Given the description of an element on the screen output the (x, y) to click on. 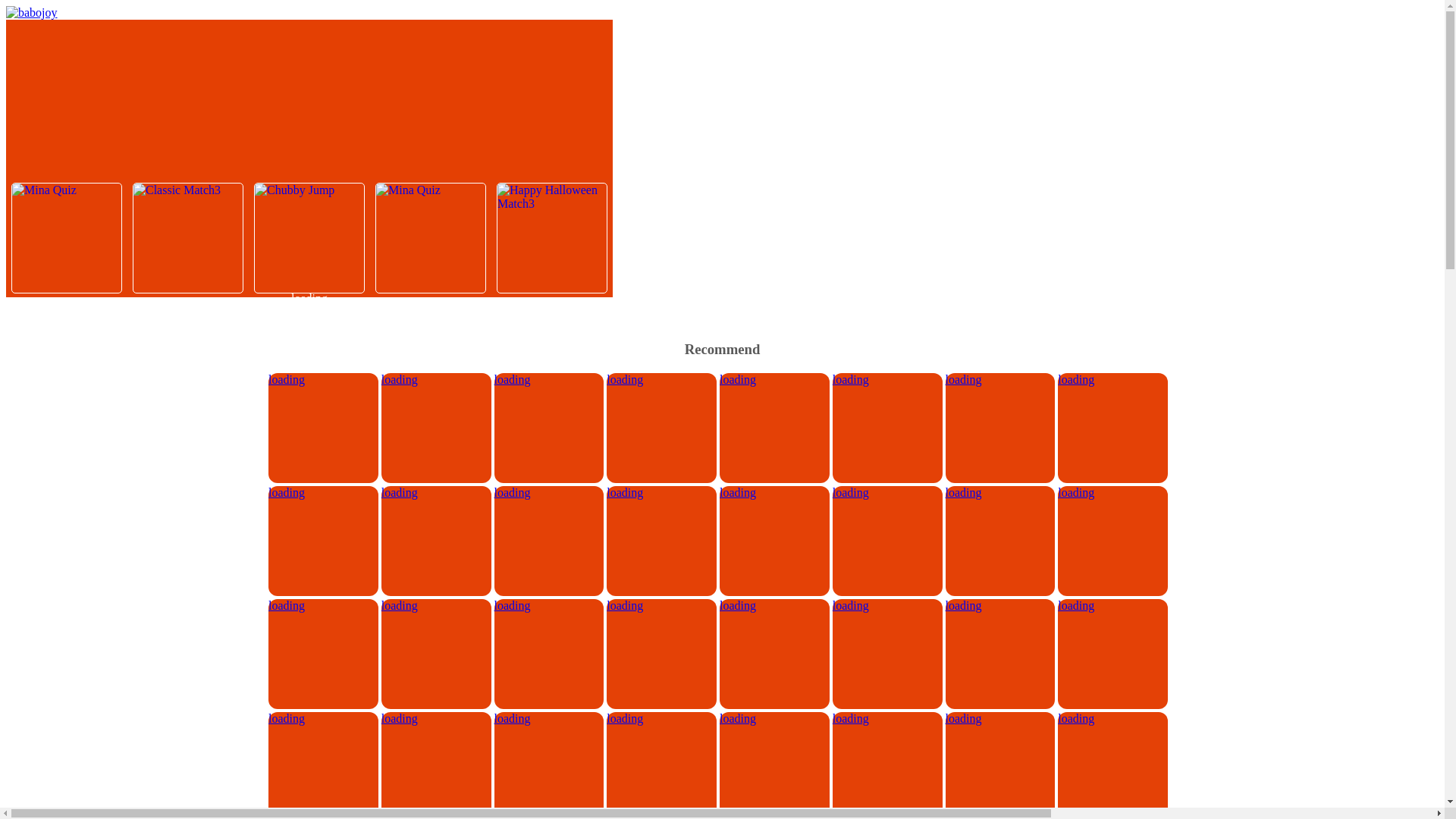
loading (887, 718)
Cocomelon and Babo Learn nursery rhymes  - Crazy Car (322, 492)
loading (887, 605)
loading (436, 379)
Chubby Jump (309, 237)
loading (774, 492)
loading (549, 605)
loading (322, 718)
loading (661, 492)
loading (322, 605)
loading (661, 379)
loading (436, 492)
loading (1112, 492)
